Given the description of an element on the screen output the (x, y) to click on. 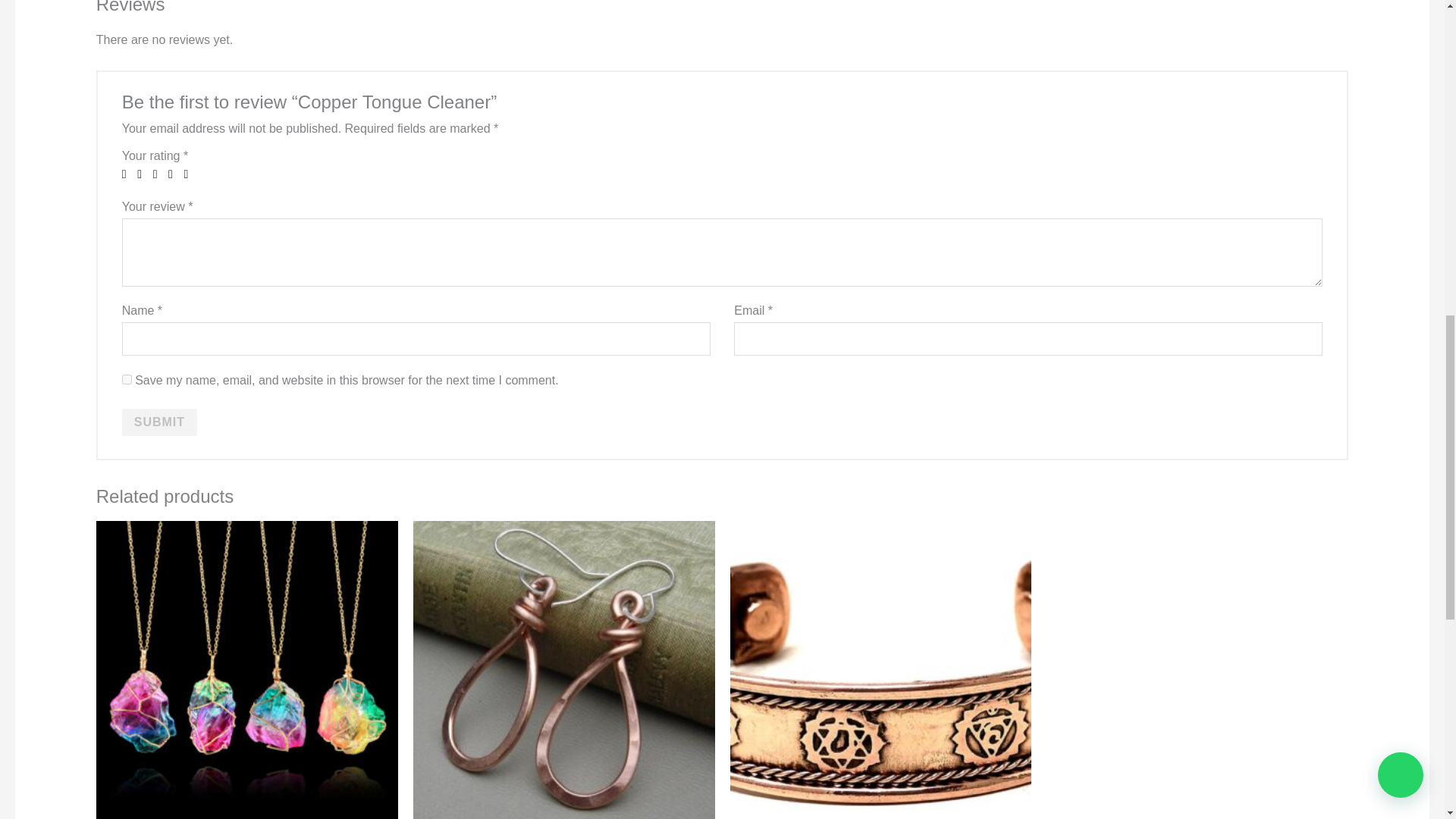
yes (127, 379)
Submit (159, 421)
